Given the description of an element on the screen output the (x, y) to click on. 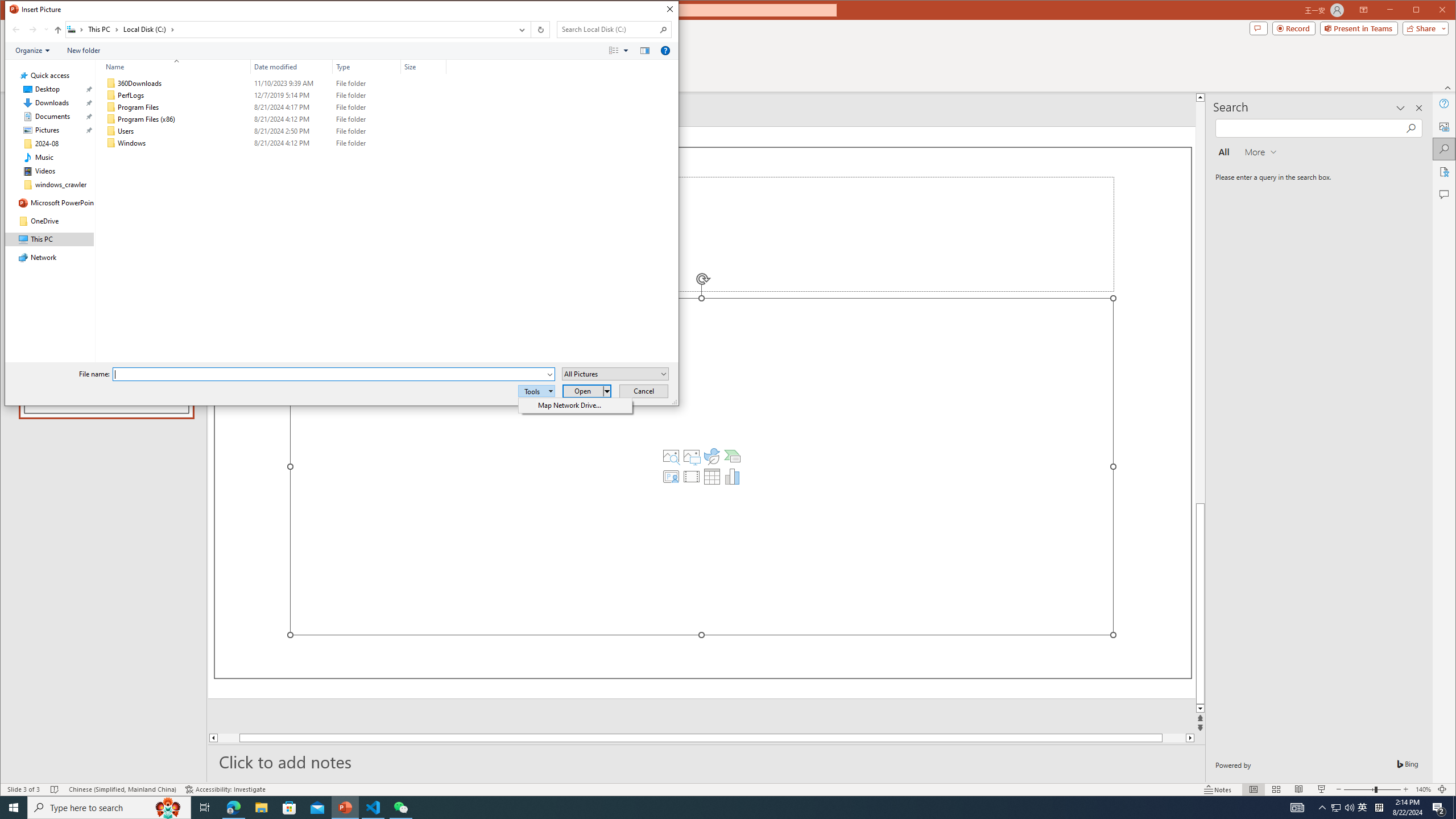
Page down (1162, 737)
Size (423, 66)
Files of type: (615, 373)
Search (1444, 148)
Start (13, 807)
Address: C:\ (288, 29)
Action Center, 2 new notifications (1439, 807)
Name (183, 142)
